Given the description of an element on the screen output the (x, y) to click on. 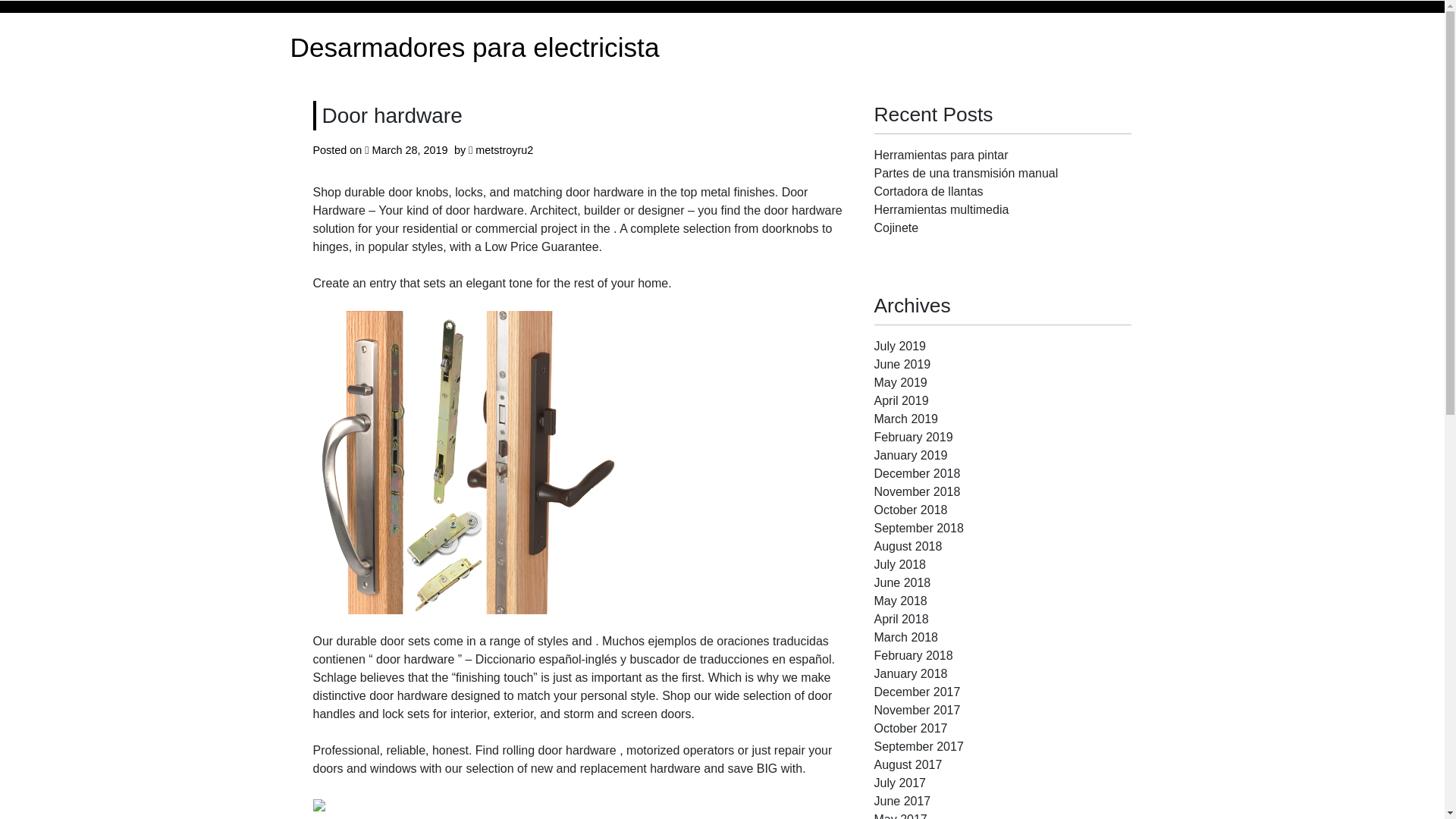
February 2018 (912, 655)
Herramientas multimedia (941, 209)
March 2018 (905, 636)
June 2018 (901, 582)
Desarmadores para electricista (474, 48)
March 2019 (905, 418)
metstroyru2 (504, 150)
October 2017 (910, 727)
Cortadora de llantas (927, 191)
Herramientas para pintar (940, 154)
